Given the description of an element on the screen output the (x, y) to click on. 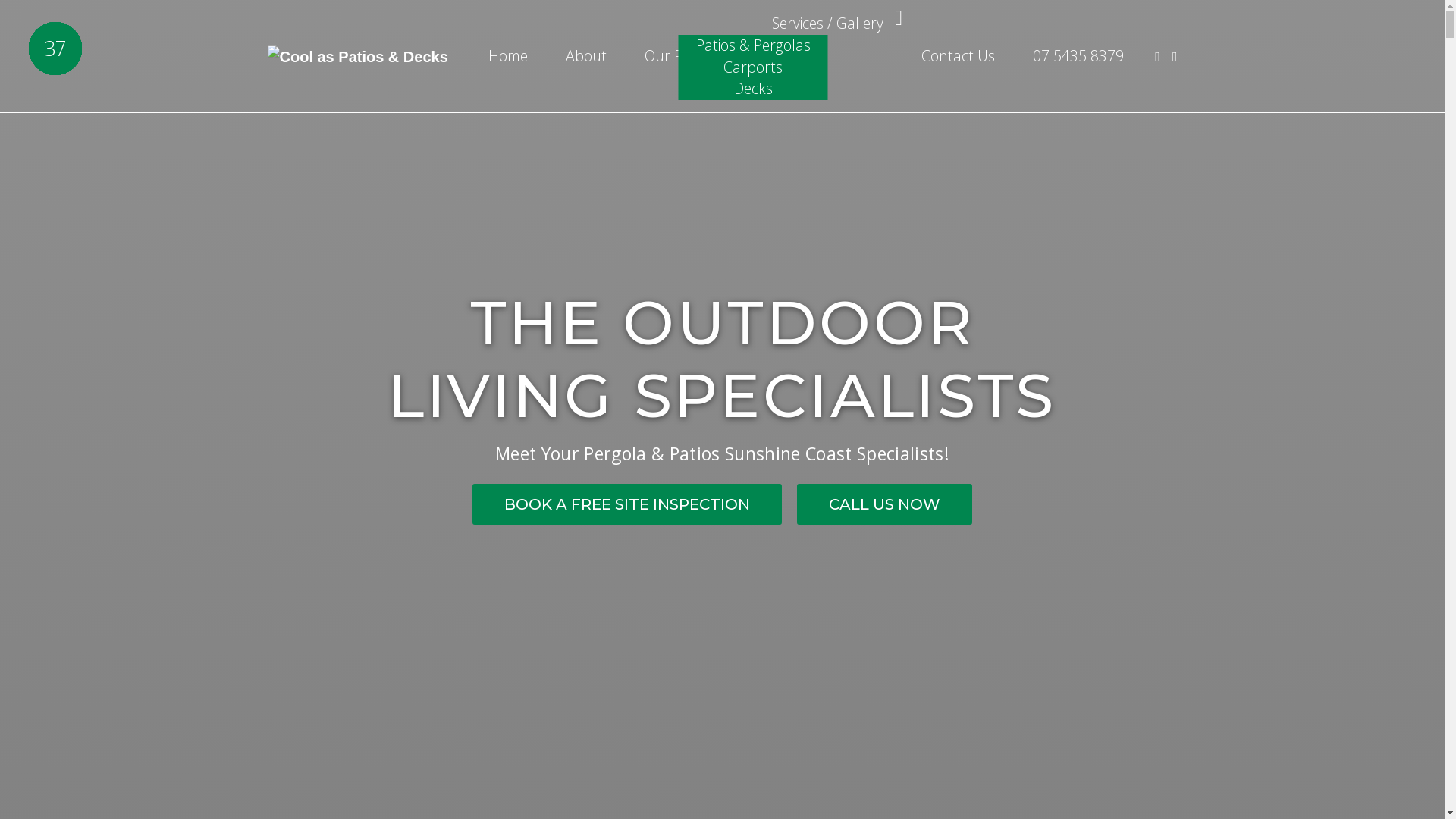
Contact Us Element type: text (957, 55)
Our Products Element type: text (689, 55)
CALL US NOW Element type: text (884, 503)
About Element type: text (585, 55)
Home Element type: text (507, 55)
Carports Element type: text (752, 66)
Services / Gallery Element type: text (827, 22)
Decks Element type: text (753, 88)
Patios & Pergolas Element type: text (753, 44)
BOOK A FREE SITE INSPECTION Element type: text (626, 503)
07 5435 8379 Element type: text (1077, 55)
